Given the description of an element on the screen output the (x, y) to click on. 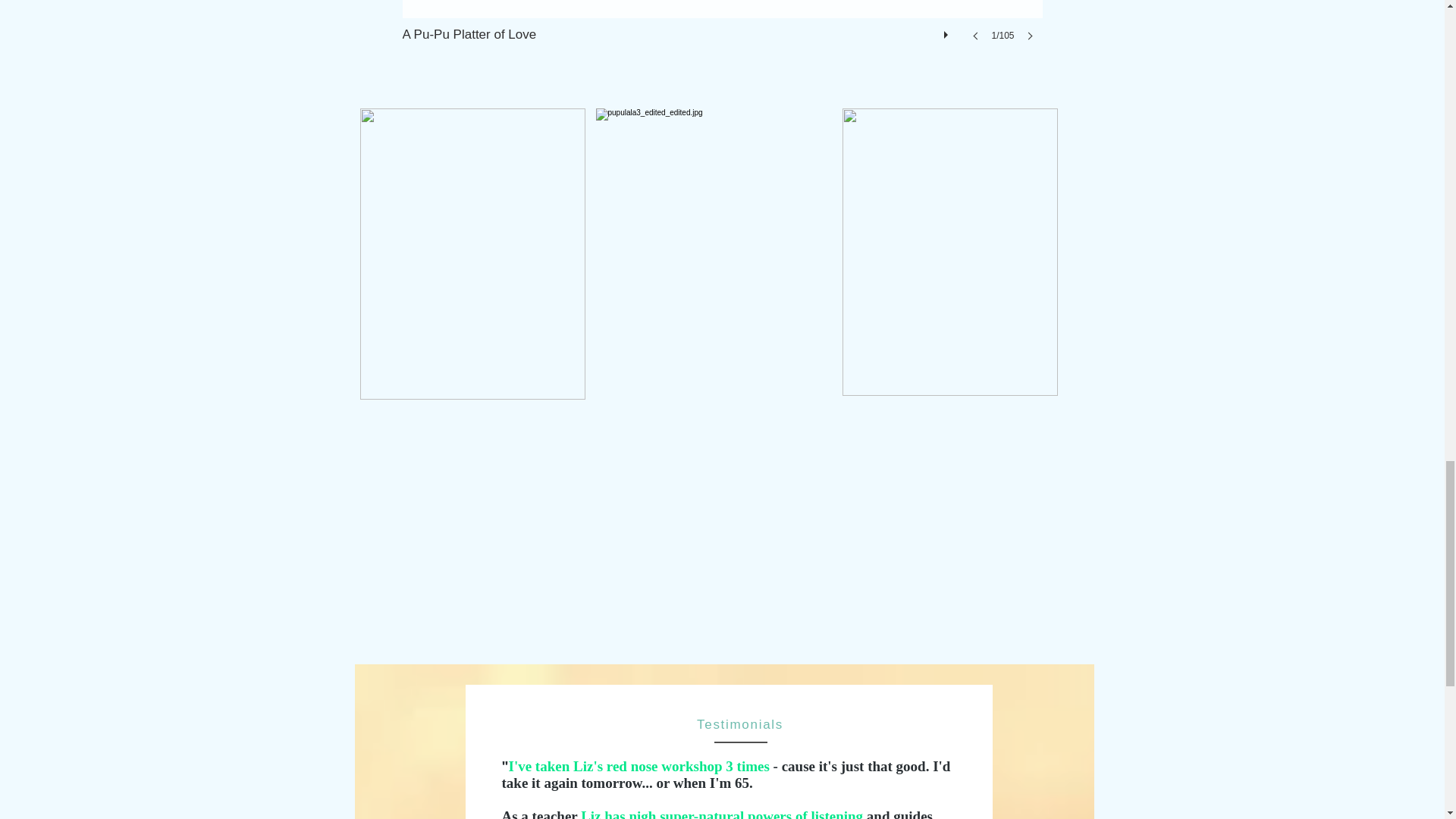
External YouTube (703, 553)
